Given the description of an element on the screen output the (x, y) to click on. 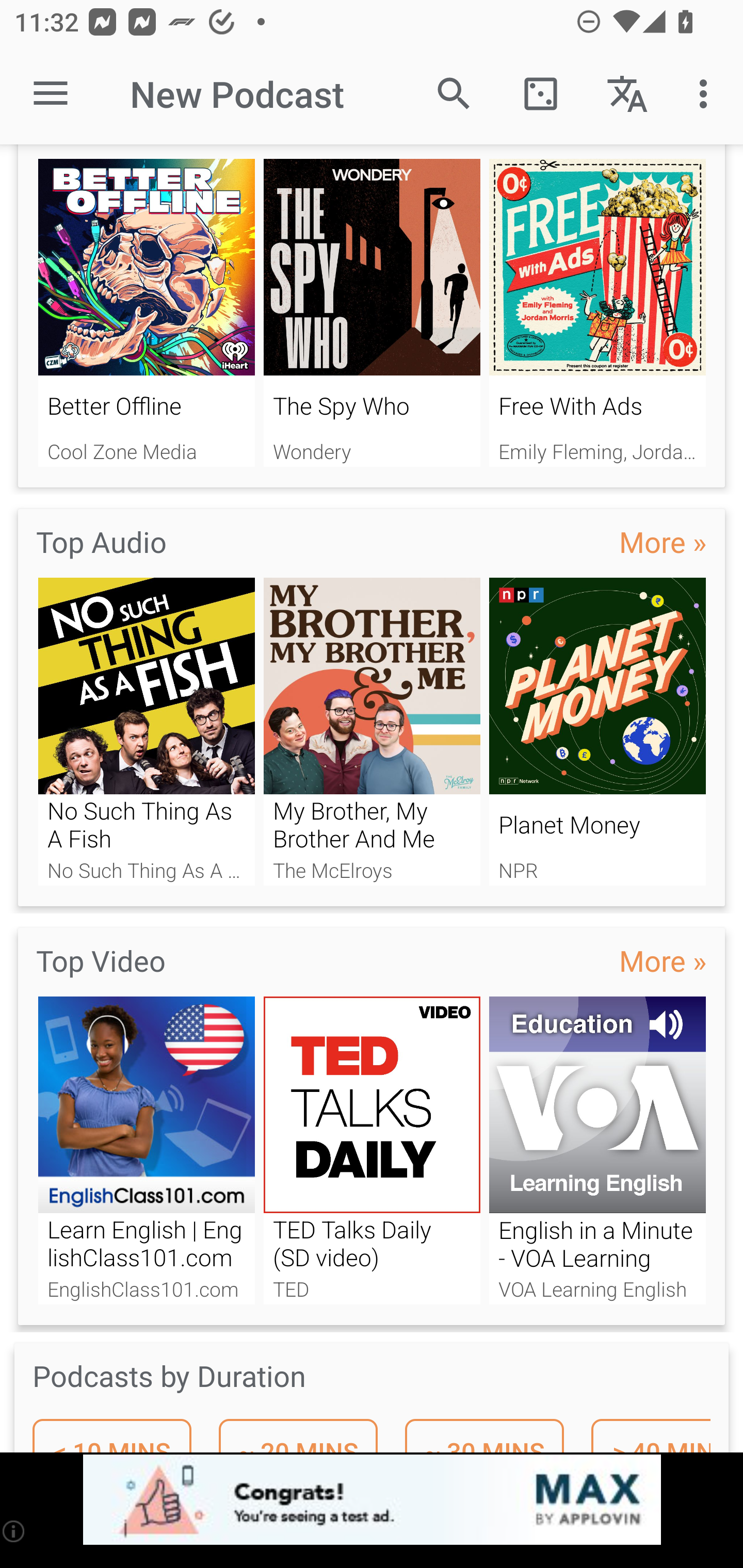
Open navigation sidebar (50, 93)
Search (453, 93)
Random pick (540, 93)
Podcast languages (626, 93)
More options (706, 93)
Better Offline Cool Zone Media (145, 312)
The Spy Who Wondery (371, 312)
Free With Ads Emily Fleming, Jordan Morris (596, 312)
More » (662, 541)
No Such Thing As A Fish (145, 731)
My Brother, My Brother And Me The McElroys (371, 731)
Planet Money NPR (596, 731)
More » (662, 960)
TED Talks Daily (SD video) TED (371, 1150)
app-monetization (371, 1500)
(i) (14, 1531)
